Given the description of an element on the screen output the (x, y) to click on. 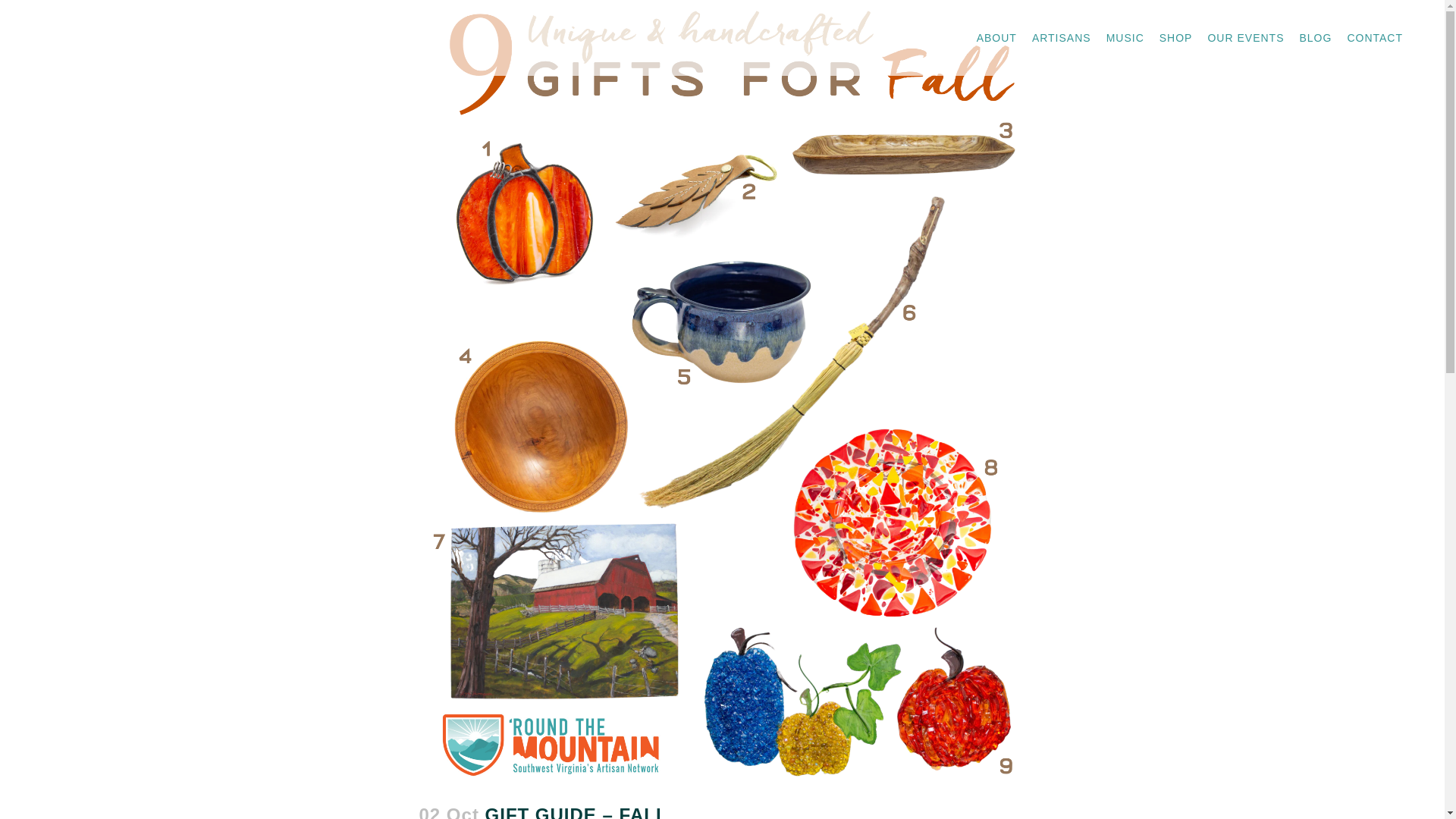
OUR EVENTS (1245, 38)
ARTISANS (1062, 38)
CONTACT (1374, 38)
